Given the description of an element on the screen output the (x, y) to click on. 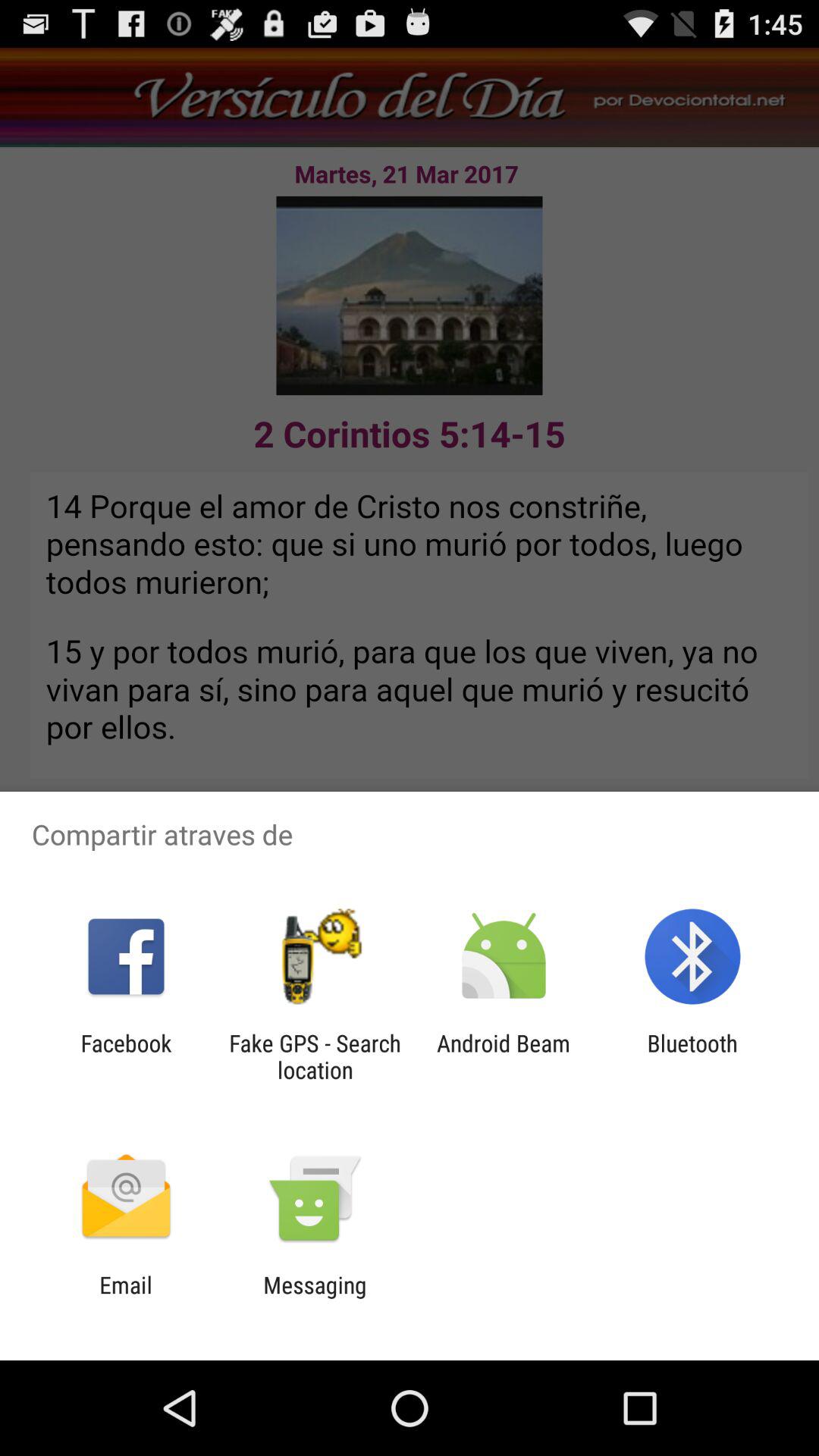
jump to facebook item (125, 1056)
